Given the description of an element on the screen output the (x, y) to click on. 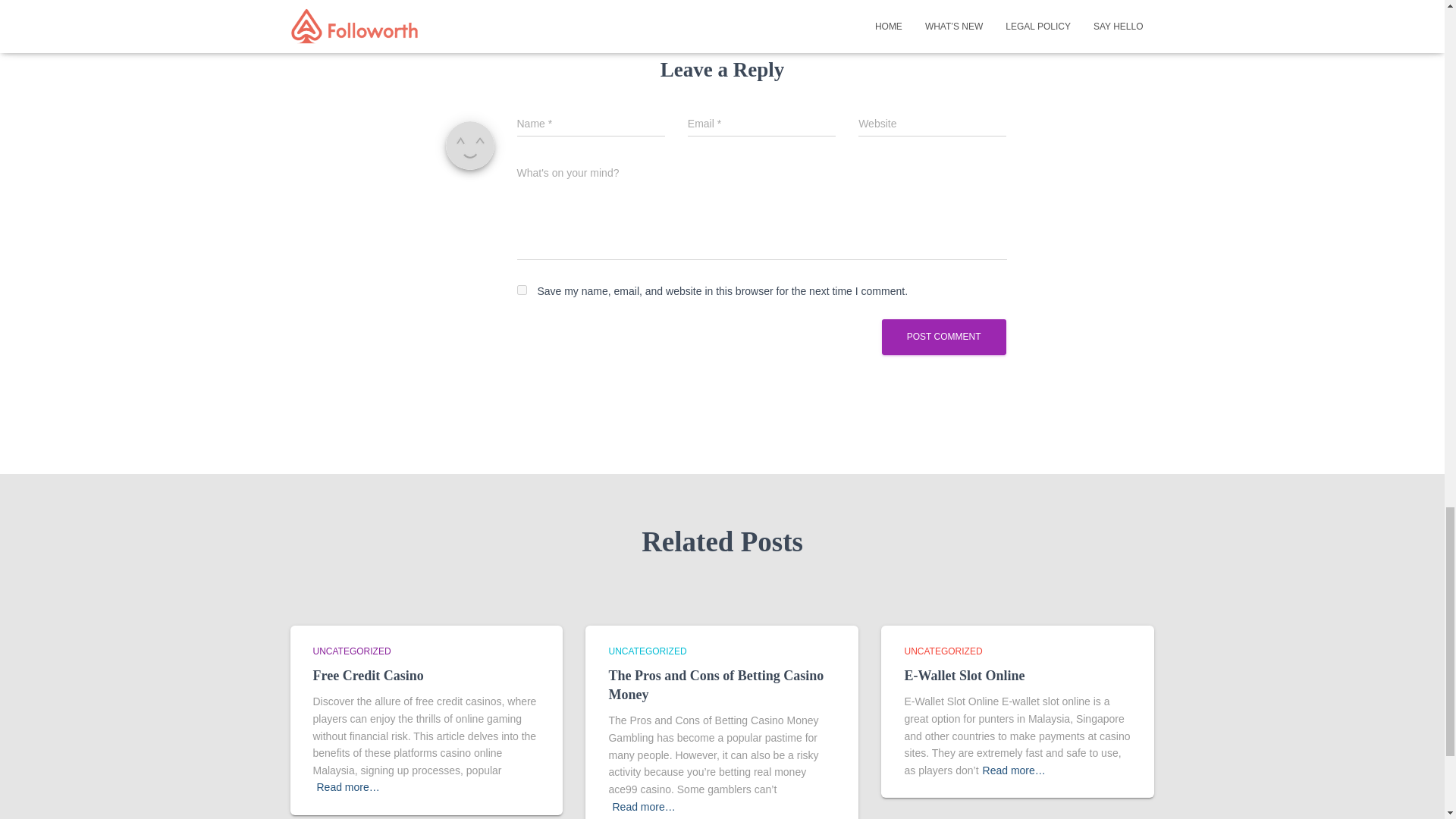
UNCATEGORIZED (646, 651)
The Pros and Cons of Betting Casino Money (716, 684)
UNCATEGORIZED (942, 651)
Post Comment (944, 336)
View all posts in Uncategorized (646, 651)
The Pros and Cons of Betting Casino Money (716, 684)
Free Credit Casino (368, 675)
UNCATEGORIZED (351, 651)
E-Wallet Slot Online (964, 675)
Free Credit Casino (368, 675)
